Given the description of an element on the screen output the (x, y) to click on. 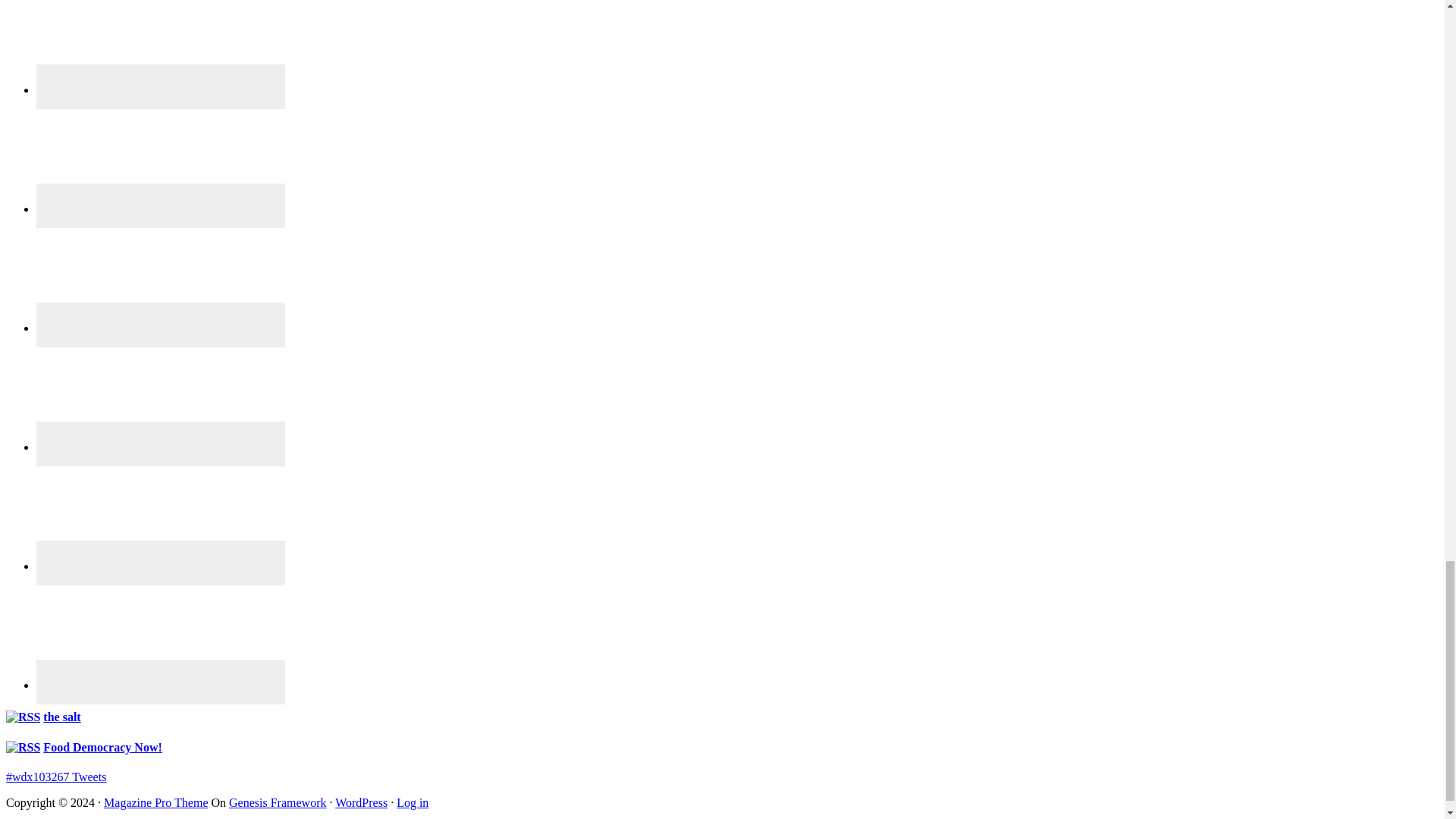
Email (160, 86)
LinkedIn (160, 275)
Twitter (160, 513)
Email (160, 47)
Facebook (160, 205)
Twitter (160, 562)
LinkedIn (160, 324)
the salt (61, 716)
RSS (160, 443)
Vimeo (160, 632)
Food Democracy Now! (102, 747)
RSS (160, 394)
Facebook (160, 155)
Vimeo (160, 682)
